Given the description of an element on the screen output the (x, y) to click on. 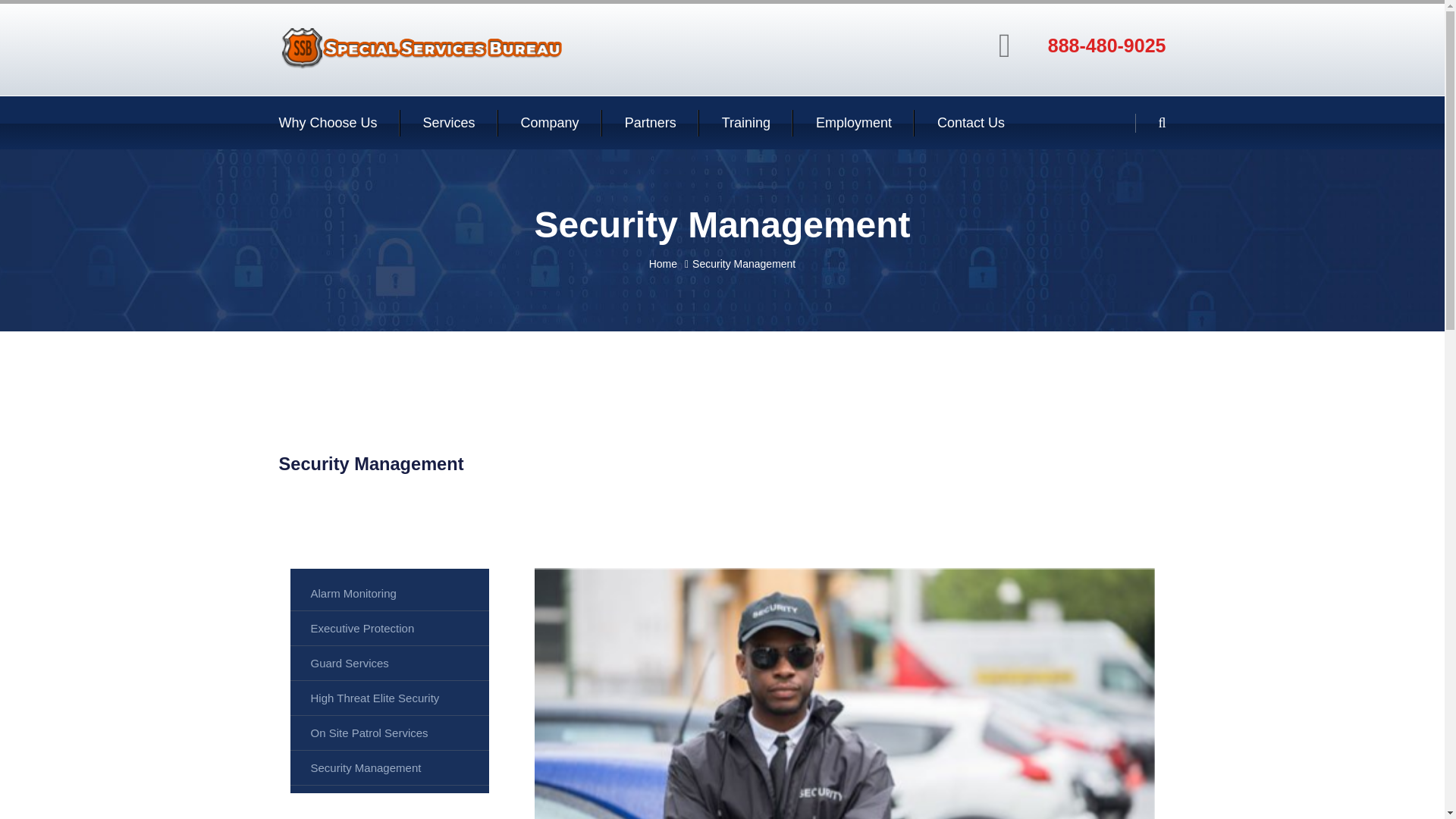
Services (449, 122)
Why Choose Us (328, 122)
Company (550, 122)
Partners (650, 122)
Executive Protection (389, 628)
Contact Us (970, 122)
Security Management (389, 768)
Employment (853, 122)
Company (550, 122)
Alarm Monitoring (389, 593)
On Site Patrol Services (389, 733)
Guard Services (389, 663)
Training (746, 122)
Home (663, 263)
Why Choose Us (328, 122)
